Given the description of an element on the screen output the (x, y) to click on. 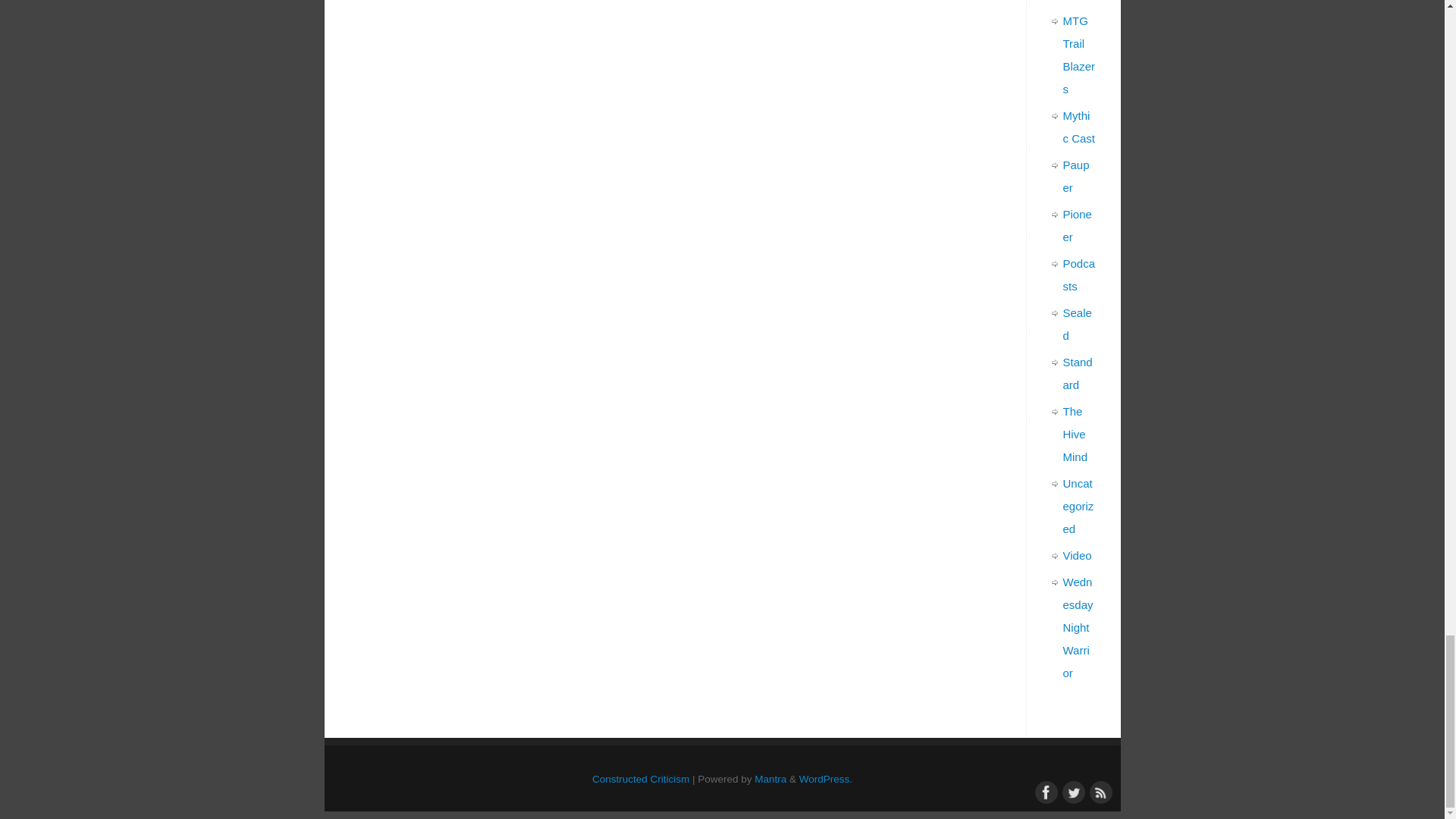
Facebook (1043, 790)
Constructed Criticism (640, 778)
Semantic Personal Publishing Platform (825, 778)
Twitter (1071, 790)
RSS (1098, 790)
Mantra Theme by Cryout Creations (770, 778)
